Given the description of an element on the screen output the (x, y) to click on. 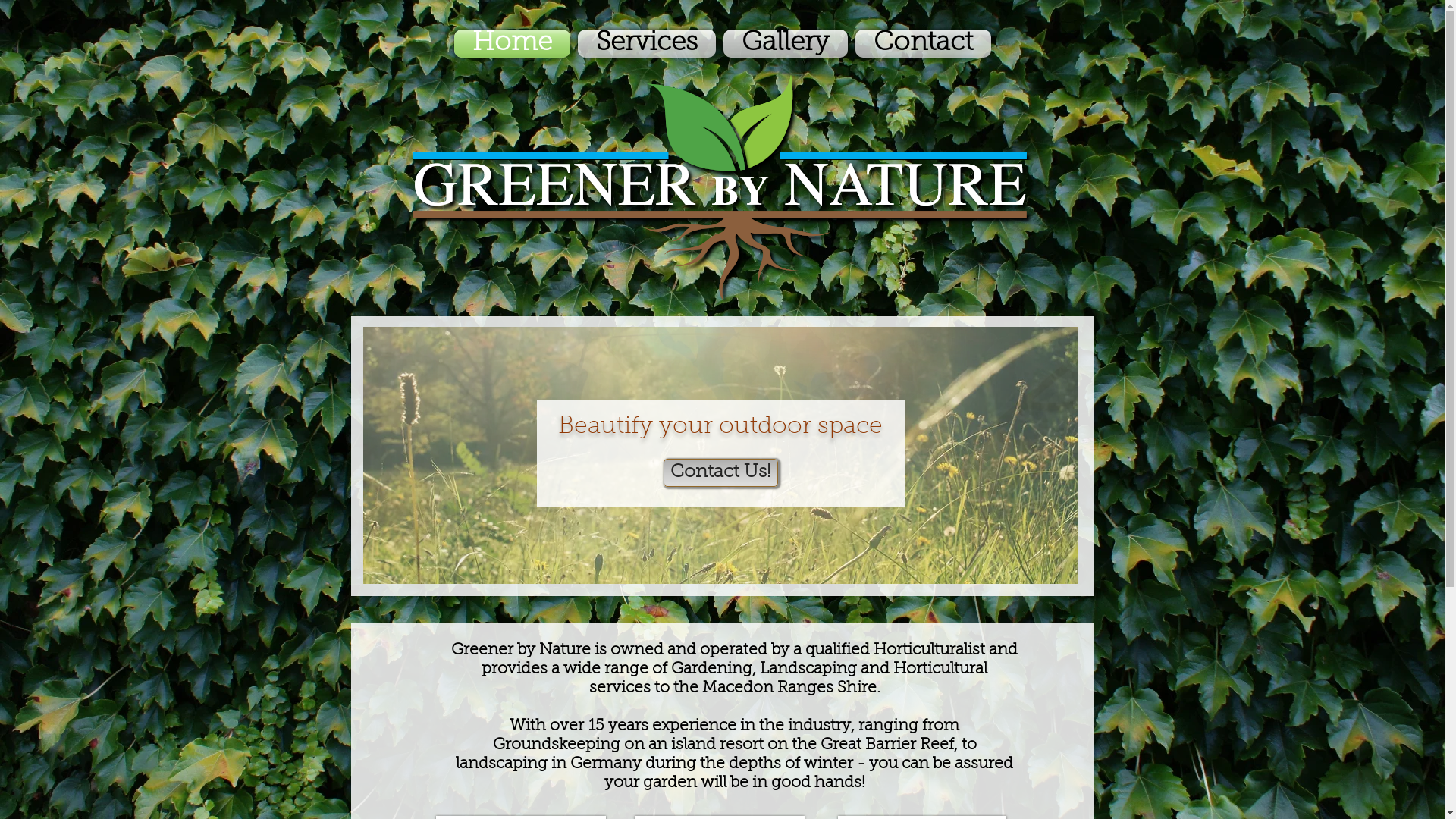
Gallery Element type: text (784, 43)
Contact Element type: text (920, 43)
Contact Us! Element type: text (719, 472)
Home Element type: text (513, 43)
Services Element type: text (645, 43)
